Given the description of an element on the screen output the (x, y) to click on. 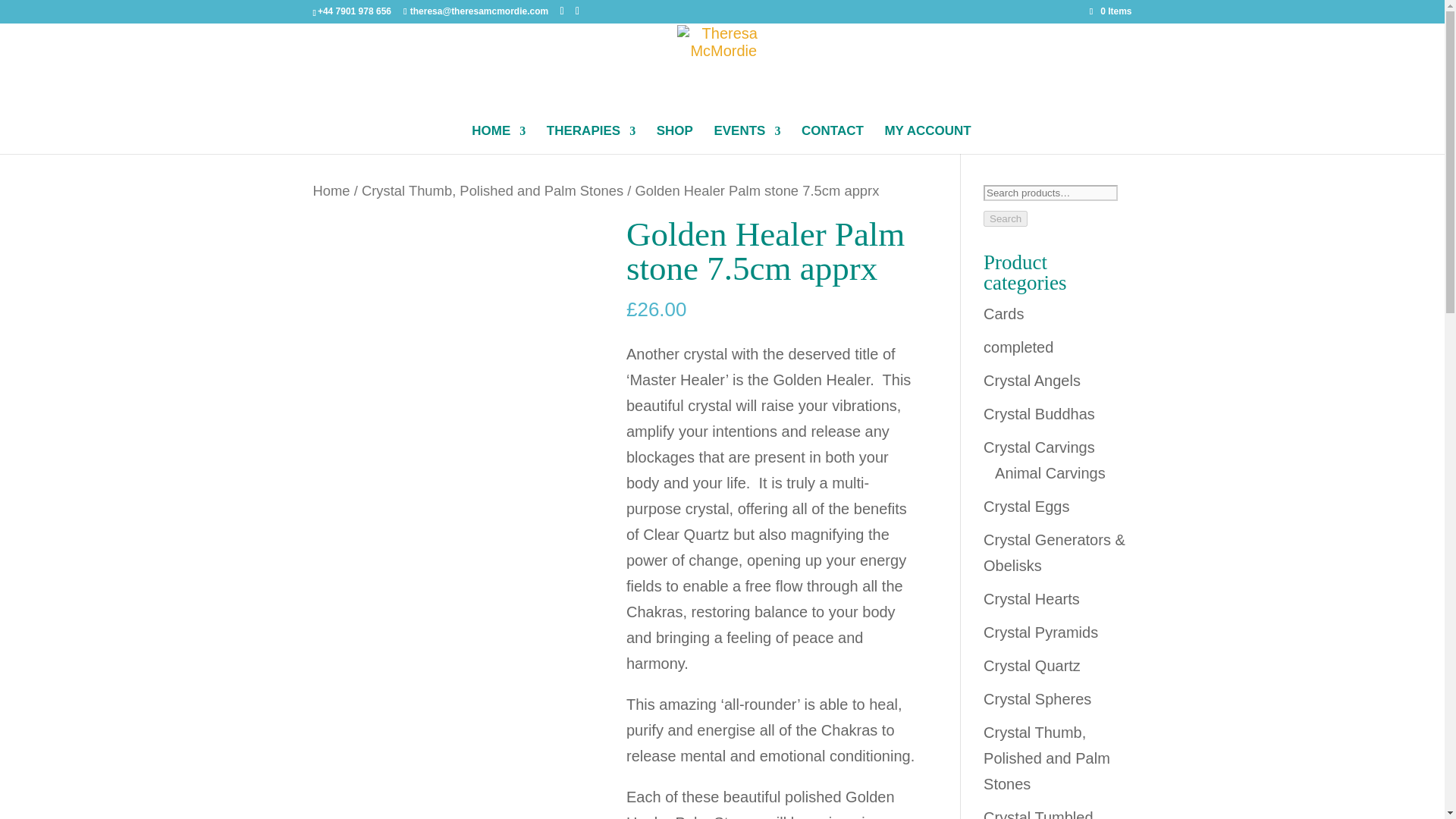
SHOP (674, 139)
Home (331, 190)
CONTACT (832, 139)
EVENTS (746, 139)
0 Items (1110, 10)
Crystal Thumb, Polished and Palm Stones (492, 190)
MY ACCOUNT (927, 139)
Search (1005, 218)
HOME (498, 139)
THERAPIES (590, 139)
